Given the description of an element on the screen output the (x, y) to click on. 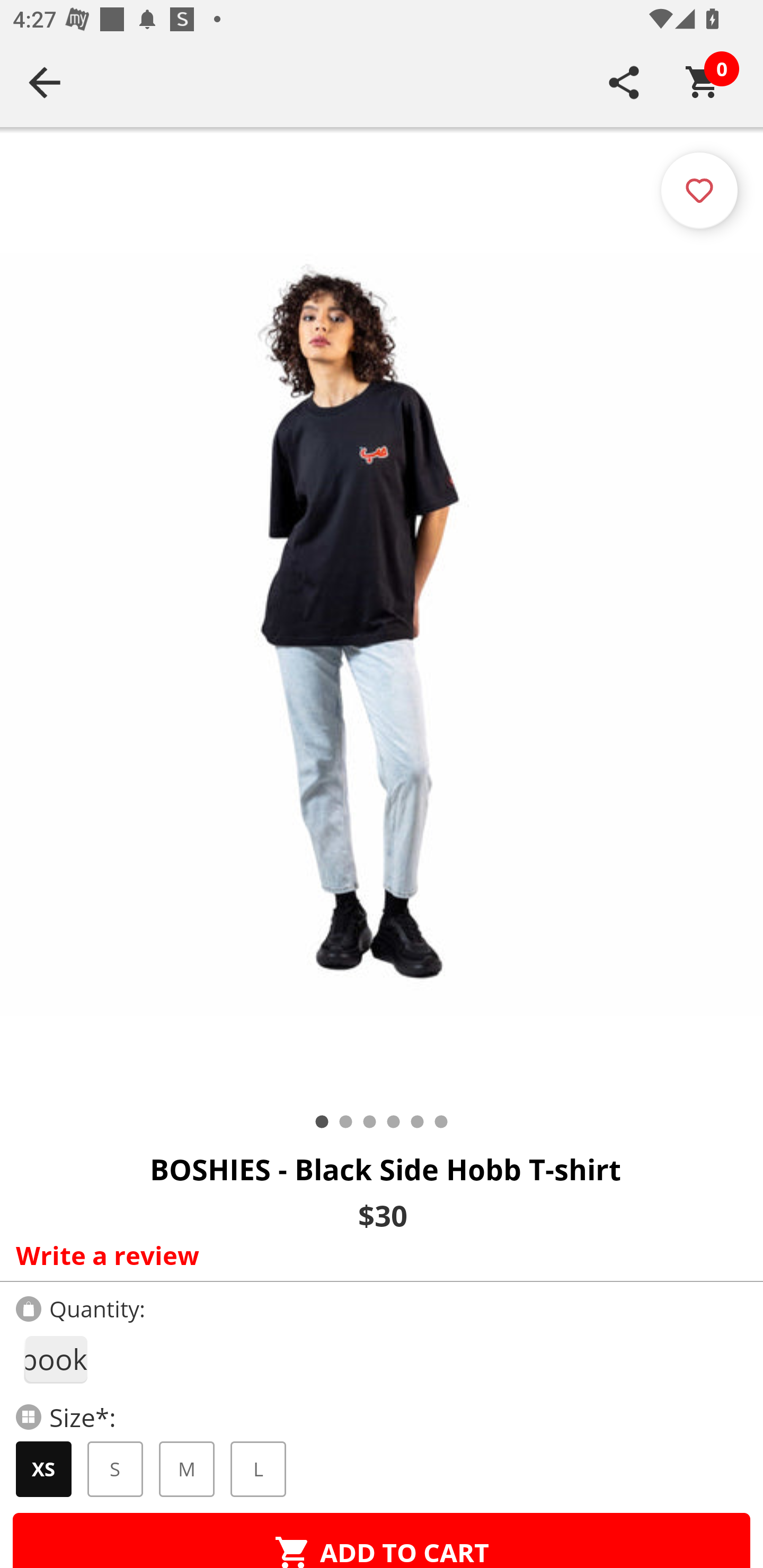
Navigate up (44, 82)
SHARE (623, 82)
Cart (703, 81)
Write a review (377, 1255)
1notebook (55, 1358)
XS (43, 1468)
S (115, 1468)
M (186, 1468)
L (258, 1468)
ADD TO CART (381, 1540)
